Given the description of an element on the screen output the (x, y) to click on. 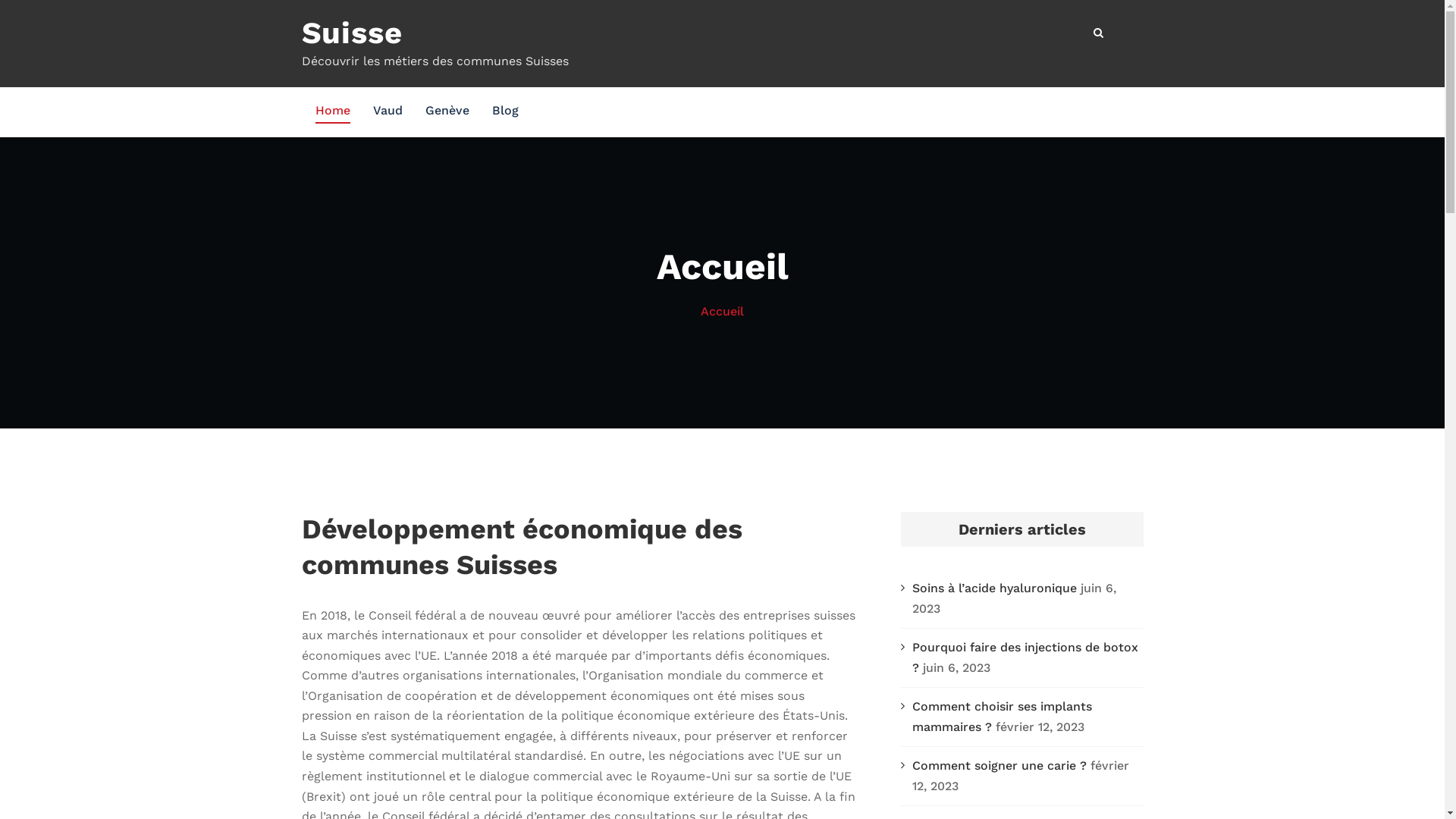
Suisse Element type: text (351, 32)
Comment choisir ses implants mammaires ? Element type: text (1001, 716)
Home Element type: text (332, 112)
Comment soigner une carie ? Element type: text (998, 765)
Rechercher Element type: hover (1099, 32)
Aller au contenu Element type: text (0, 0)
Pourquoi faire des injections de botox ? Element type: text (1024, 657)
Blog Element type: text (504, 112)
Vaud Element type: text (387, 112)
